Given the description of an element on the screen output the (x, y) to click on. 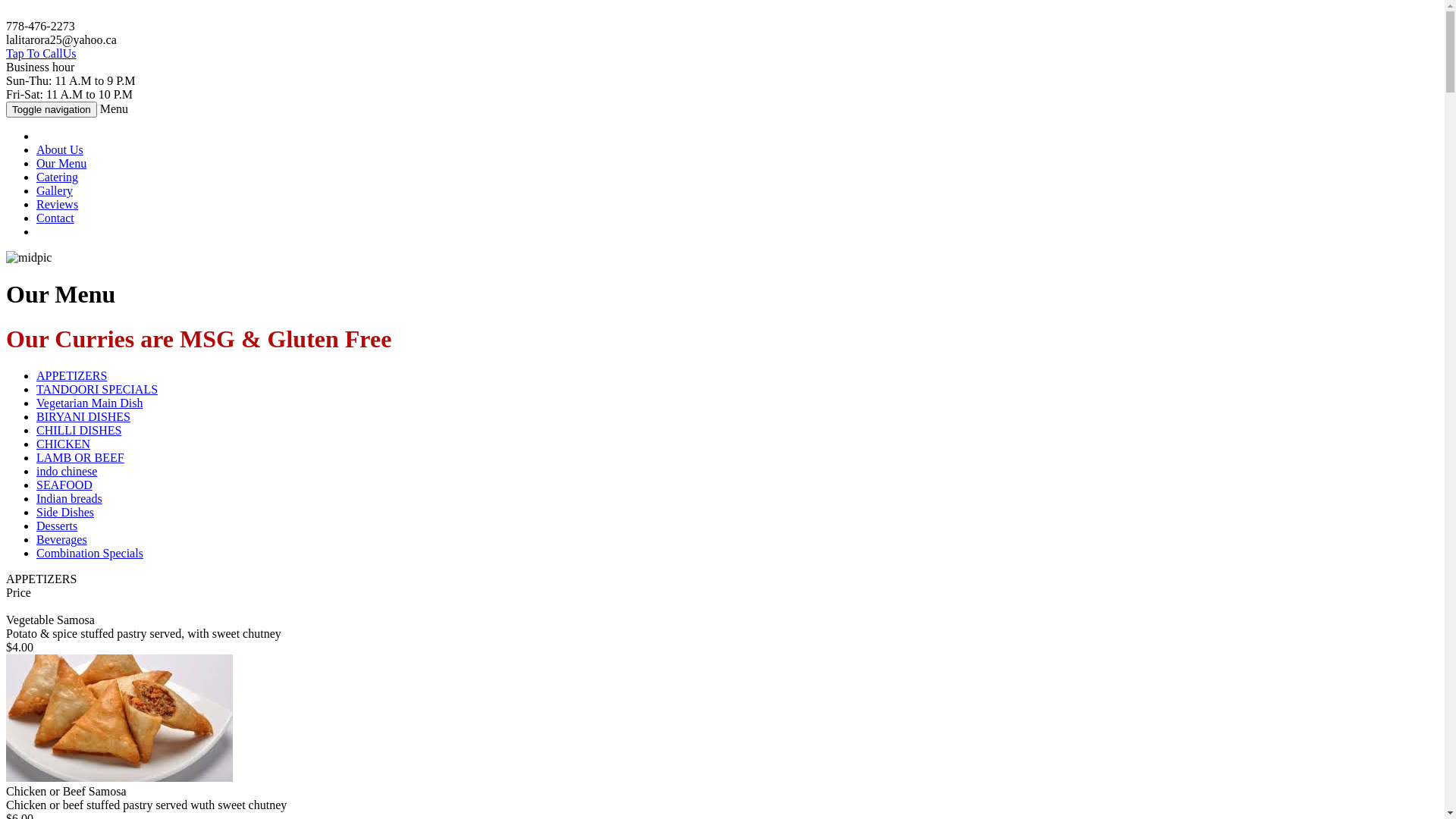
Tap To CallUs Element type: text (41, 53)
Beverages Element type: text (61, 539)
TANDOORI SPECIALS Element type: text (96, 388)
Desserts Element type: text (56, 525)
Side Dishes Element type: text (65, 511)
Toggle navigation Element type: text (51, 109)
Vegetarian Main Dish Element type: text (89, 402)
SEAFOOD Element type: text (64, 484)
About Us Element type: text (59, 149)
APPETIZERS Element type: text (71, 375)
indo chinese Element type: text (66, 470)
Our Menu Element type: text (61, 162)
BIRYANI DISHES Element type: text (83, 416)
Gallery Element type: text (54, 190)
Combination Specials Element type: text (89, 552)
Catering Element type: text (57, 176)
Contact Element type: text (55, 217)
Indian breads Element type: text (69, 498)
LAMB OR BEEF Element type: text (80, 457)
CHILLI DISHES Element type: text (78, 429)
CHICKEN Element type: text (63, 443)
Reviews Element type: text (57, 203)
